Given the description of an element on the screen output the (x, y) to click on. 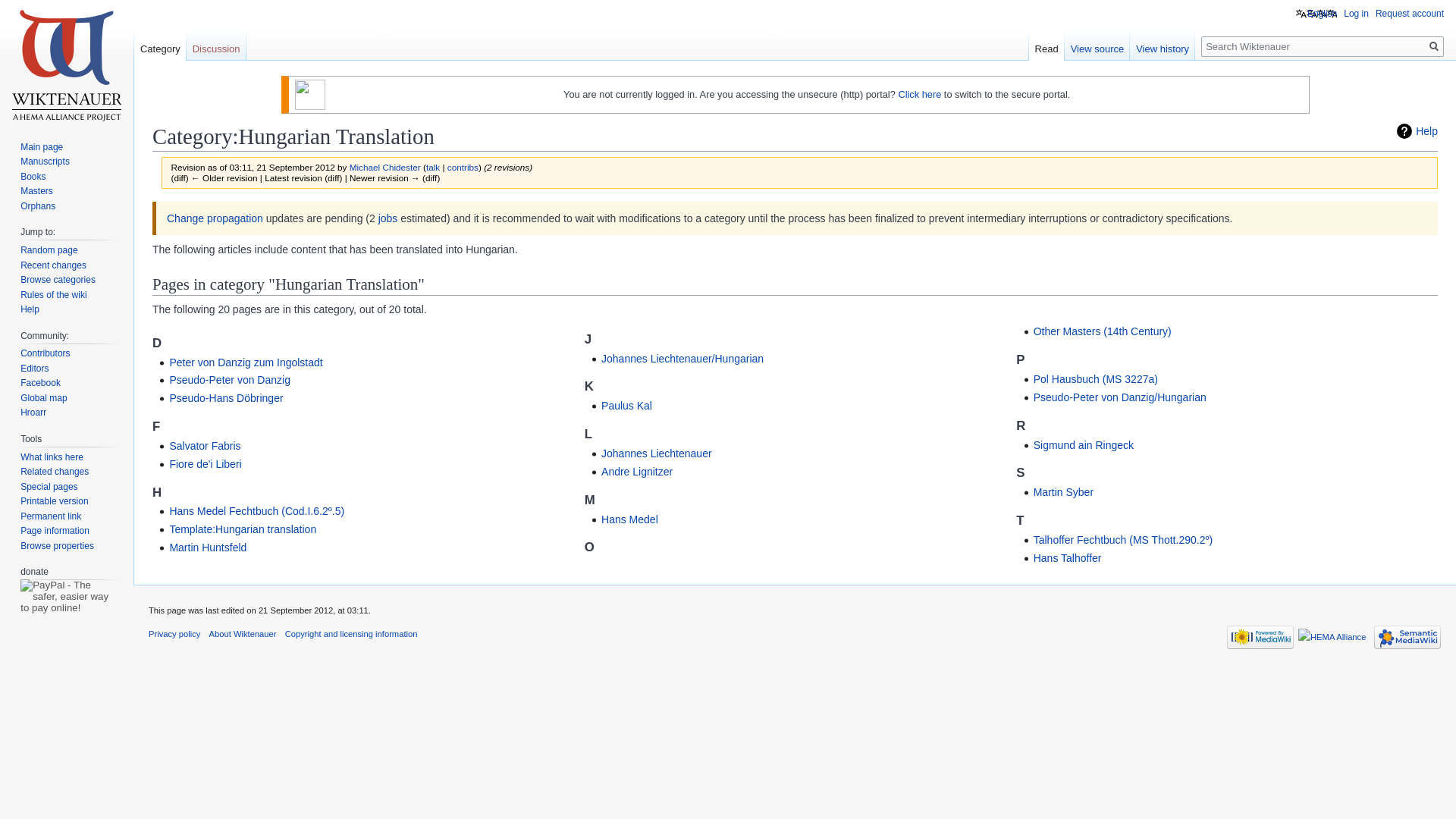
Pseudo-Peter von Danzig (228, 379)
View source (1097, 45)
Search (1433, 46)
Request account (1409, 13)
Hans Medel (629, 518)
Salvator Fabris (204, 445)
Martin Syber (1063, 491)
Andre Lignitzer (636, 471)
Read (1046, 45)
jobs (387, 218)
